Given the description of an element on the screen output the (x, y) to click on. 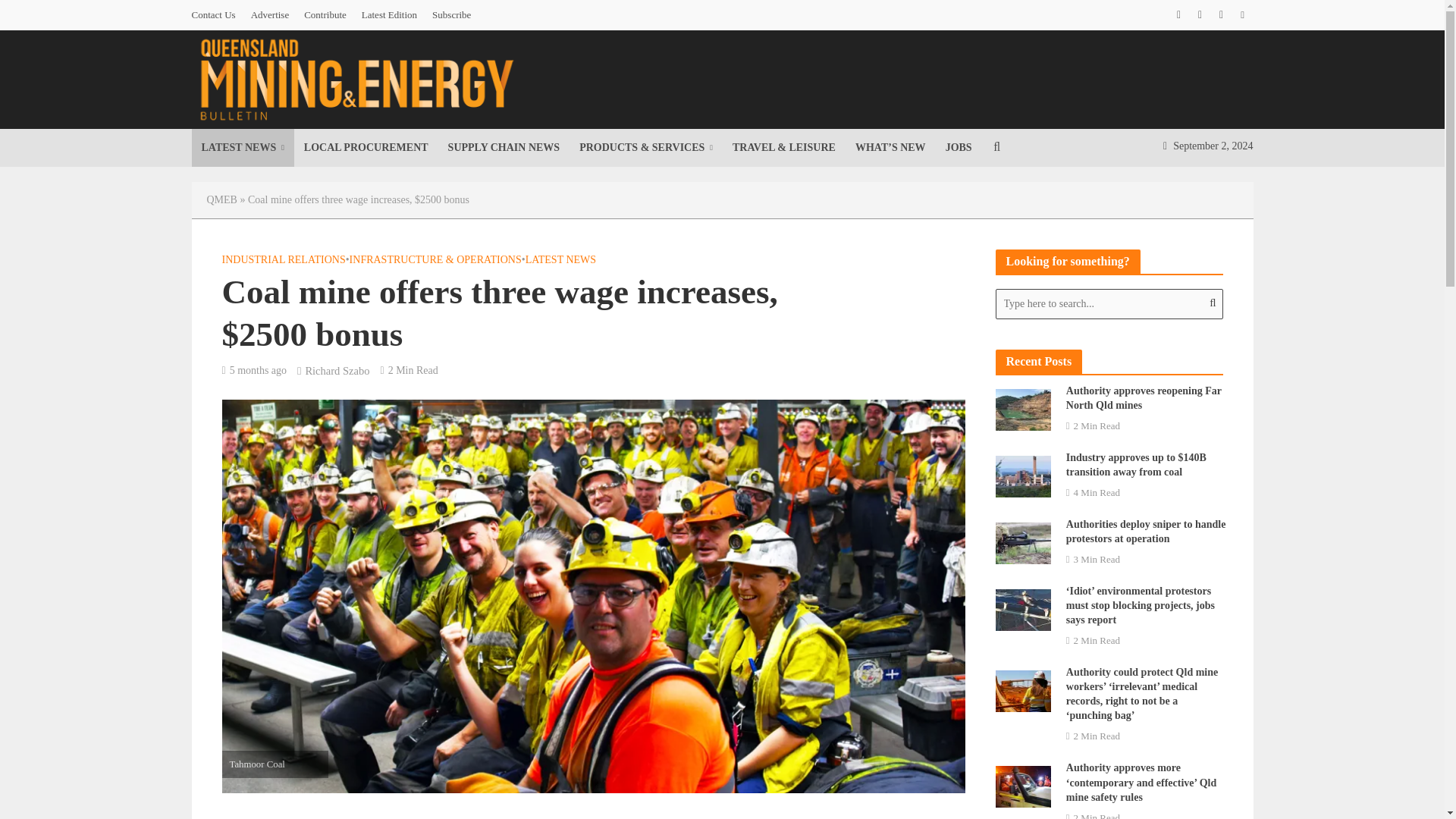
Authority approves reopening Far North Qld mines (1021, 408)
Contact Us (216, 15)
Latest Edition (389, 15)
LOCAL PROCUREMENT (366, 147)
SUPPLY CHAIN NEWS (504, 147)
Advertise (270, 15)
Authorities deploy sniper to handle protestors at operation (1021, 541)
Contribute (325, 15)
LATEST NEWS (242, 147)
Subscribe (452, 15)
